Given the description of an element on the screen output the (x, y) to click on. 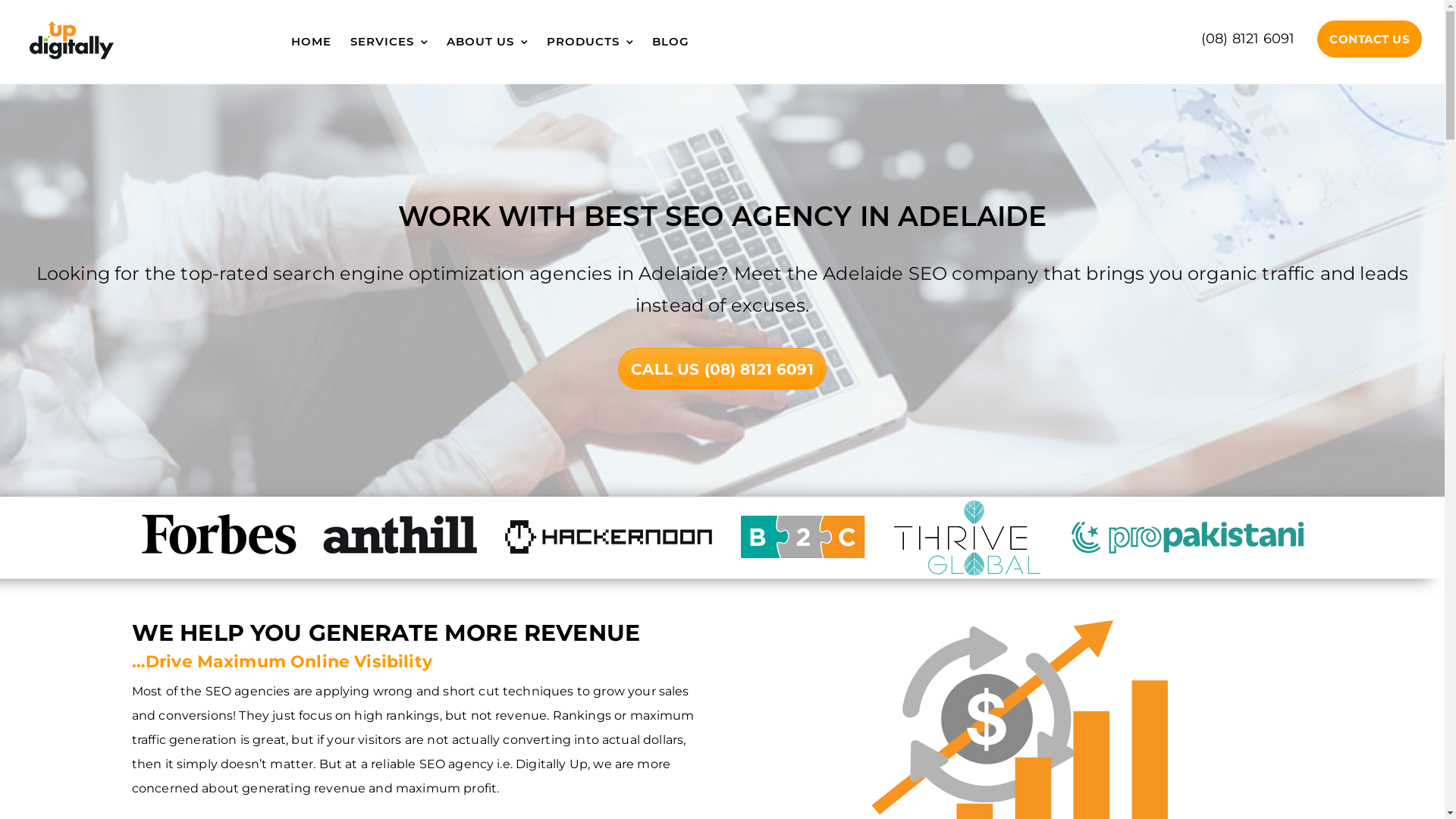
CONTACT US Element type: text (1369, 38)
SERVICES Element type: text (388, 40)
Clients-logo-strip Element type: hover (721, 537)
PRODUCTS Element type: text (589, 40)
HOME Element type: text (310, 40)
BLOG Element type: text (671, 40)
(08) 8121 6091 Element type: text (1247, 38)
CALL US (08) 8121 6091 Element type: text (722, 368)
ABOUT US Element type: text (486, 40)
